Given the description of an element on the screen output the (x, y) to click on. 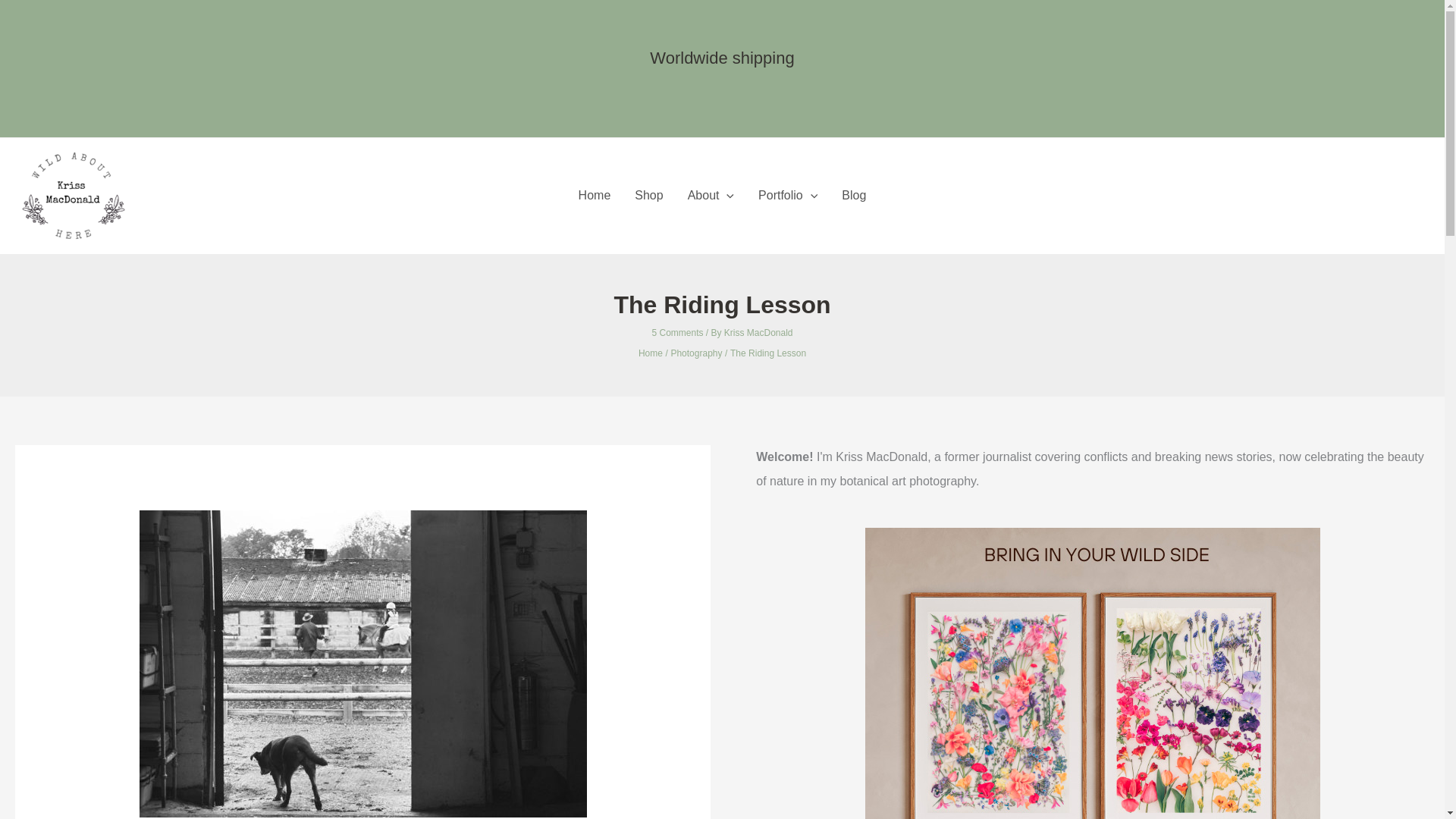
View all posts by  (758, 332)
About (710, 195)
blog posts (594, 195)
5 Comments (676, 332)
Portfolio (787, 195)
Home (594, 195)
Blog (853, 195)
Kriss MacDonald (758, 332)
Shop (649, 195)
Home (650, 353)
